Given the description of an element on the screen output the (x, y) to click on. 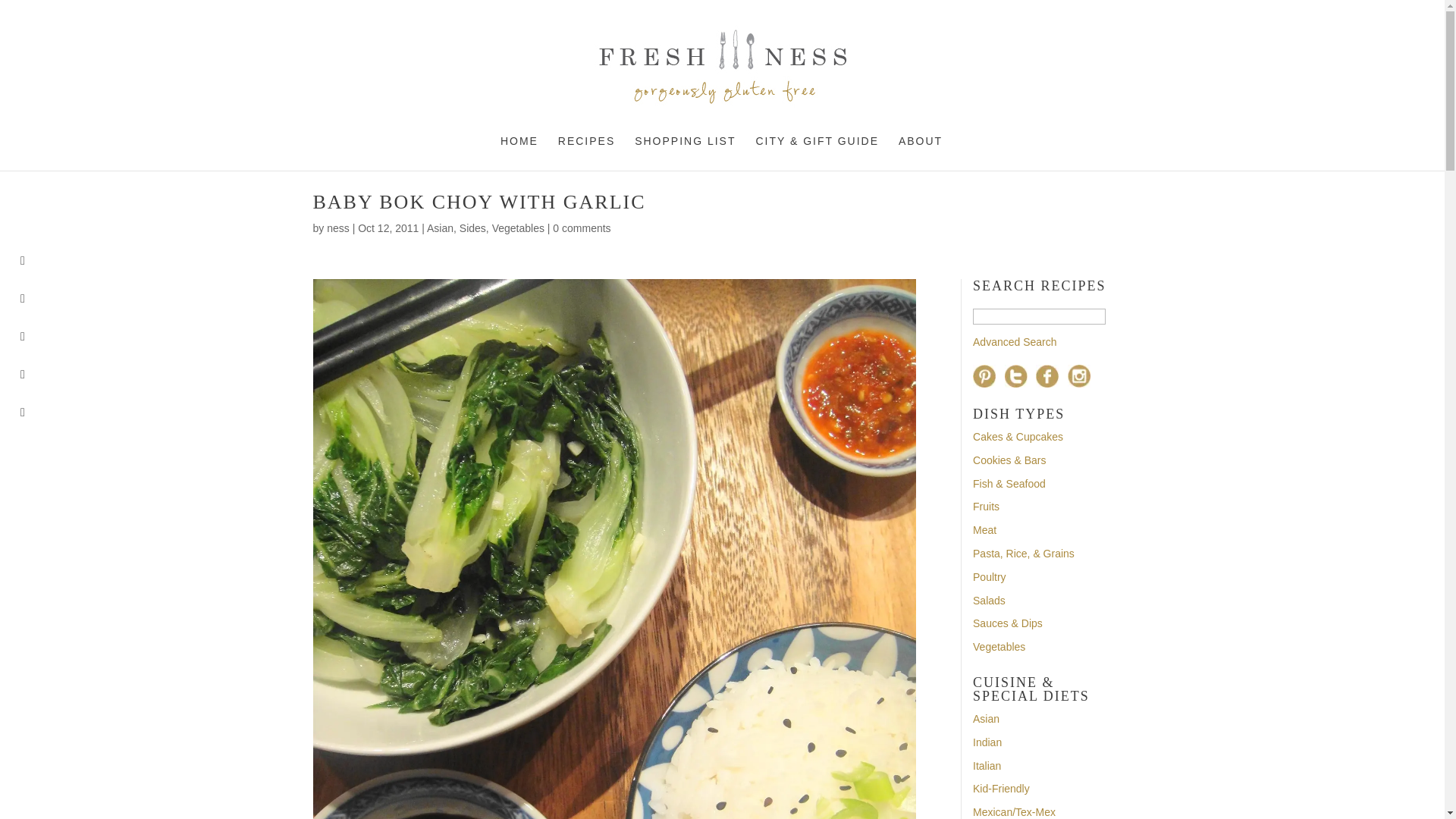
Salads (989, 600)
Vegetables (998, 646)
Search (1038, 316)
Indian (986, 742)
Asian (985, 718)
Meat (983, 530)
Pinterest (983, 375)
Twitter (1015, 375)
ness (337, 227)
Facebook (1046, 375)
Sides (473, 227)
Italian (986, 766)
Kid-Friendly (1000, 788)
SHOPPING LIST (684, 152)
HOME (519, 152)
